Given the description of an element on the screen output the (x, y) to click on. 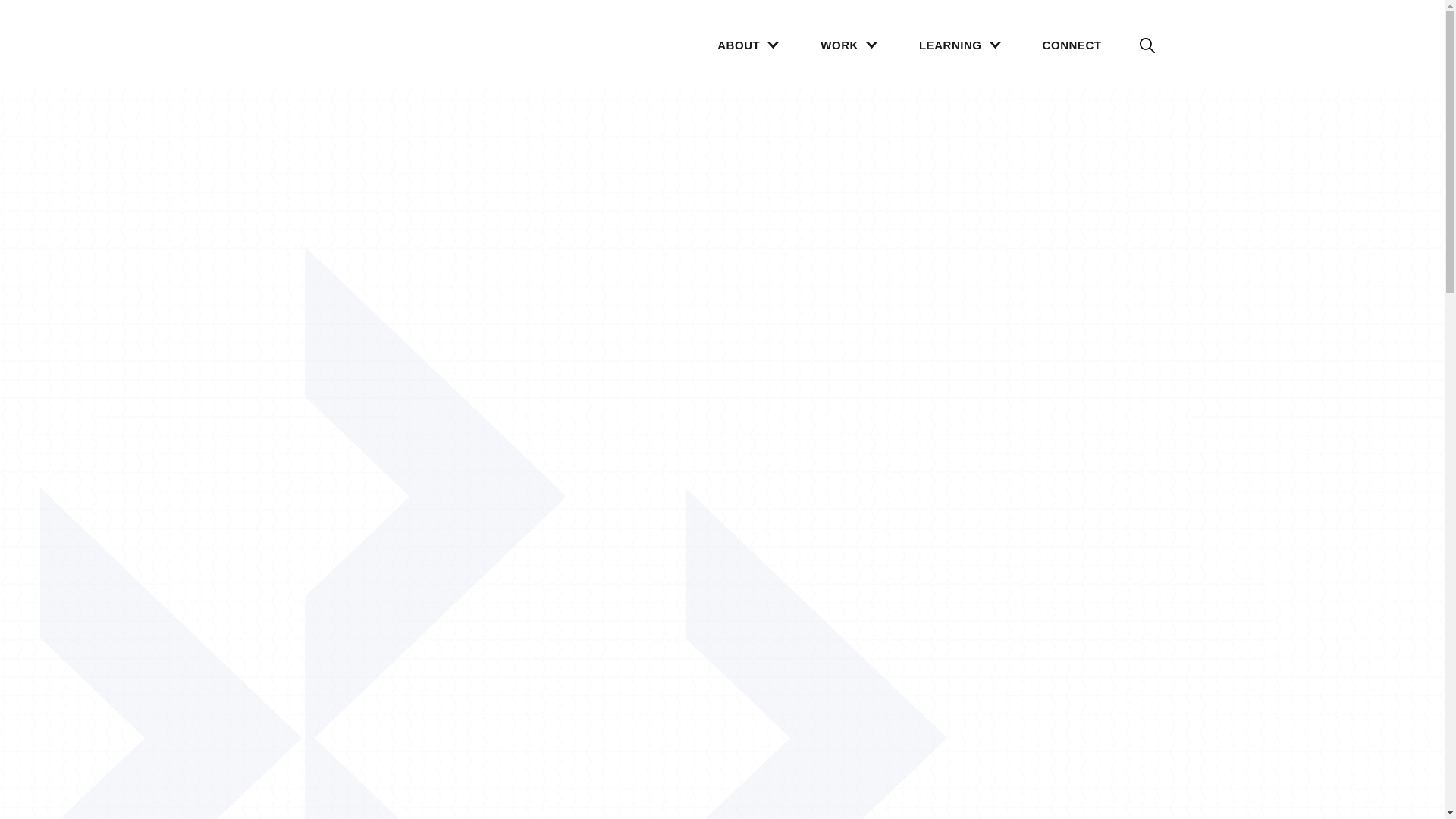
LEARNING (950, 45)
ABOUT (738, 45)
CONNECT (1072, 45)
WORK (838, 45)
